Given the description of an element on the screen output the (x, y) to click on. 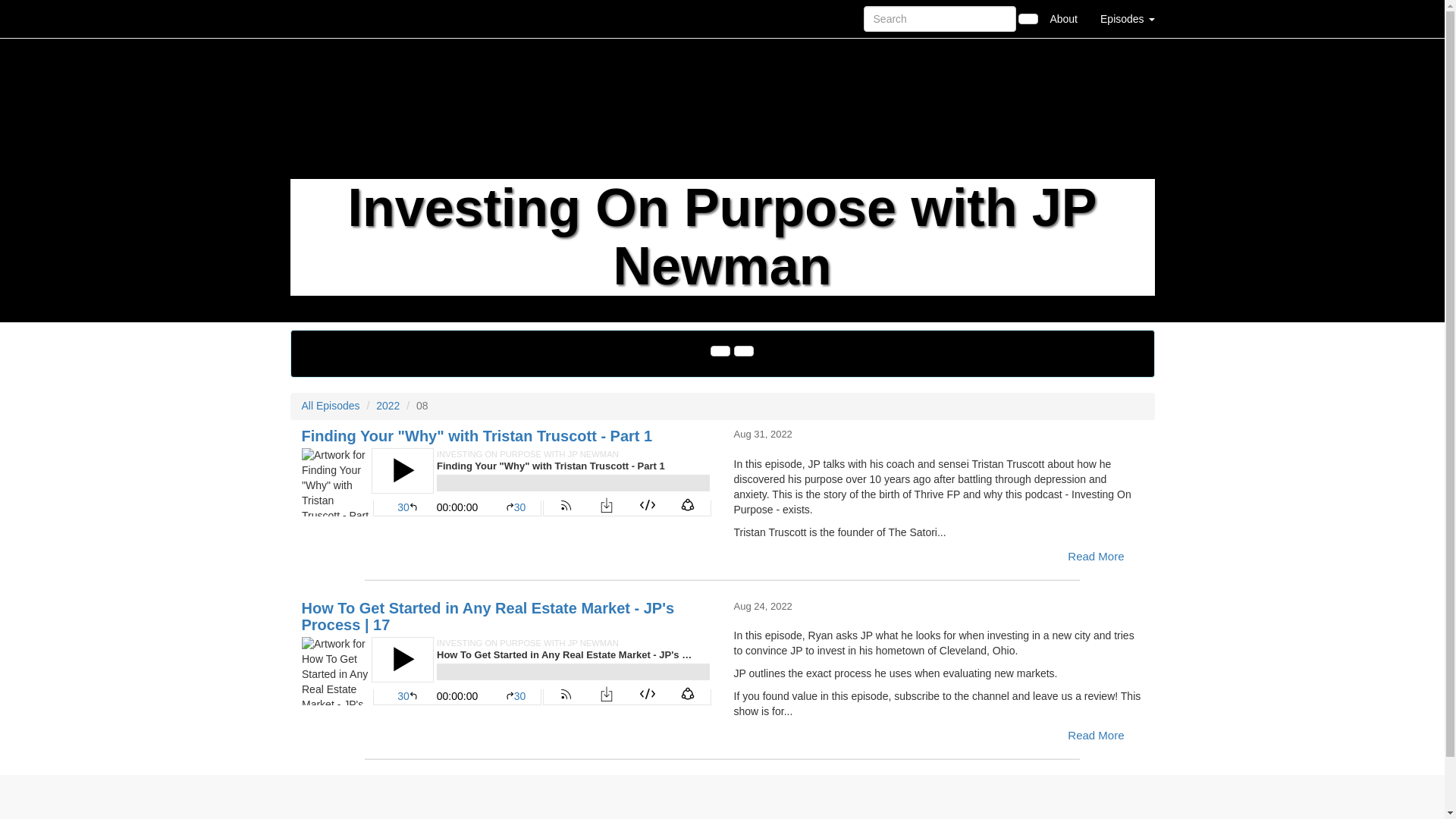
Home Page (320, 18)
Episodes (1127, 18)
All Episodes (330, 405)
Finding Your "Why" with Tristan Truscott - Part 1 (476, 435)
Finding Your "Why" with Tristan Truscott - Part 1 (506, 481)
2022 (386, 405)
About (1063, 18)
